Given the description of an element on the screen output the (x, y) to click on. 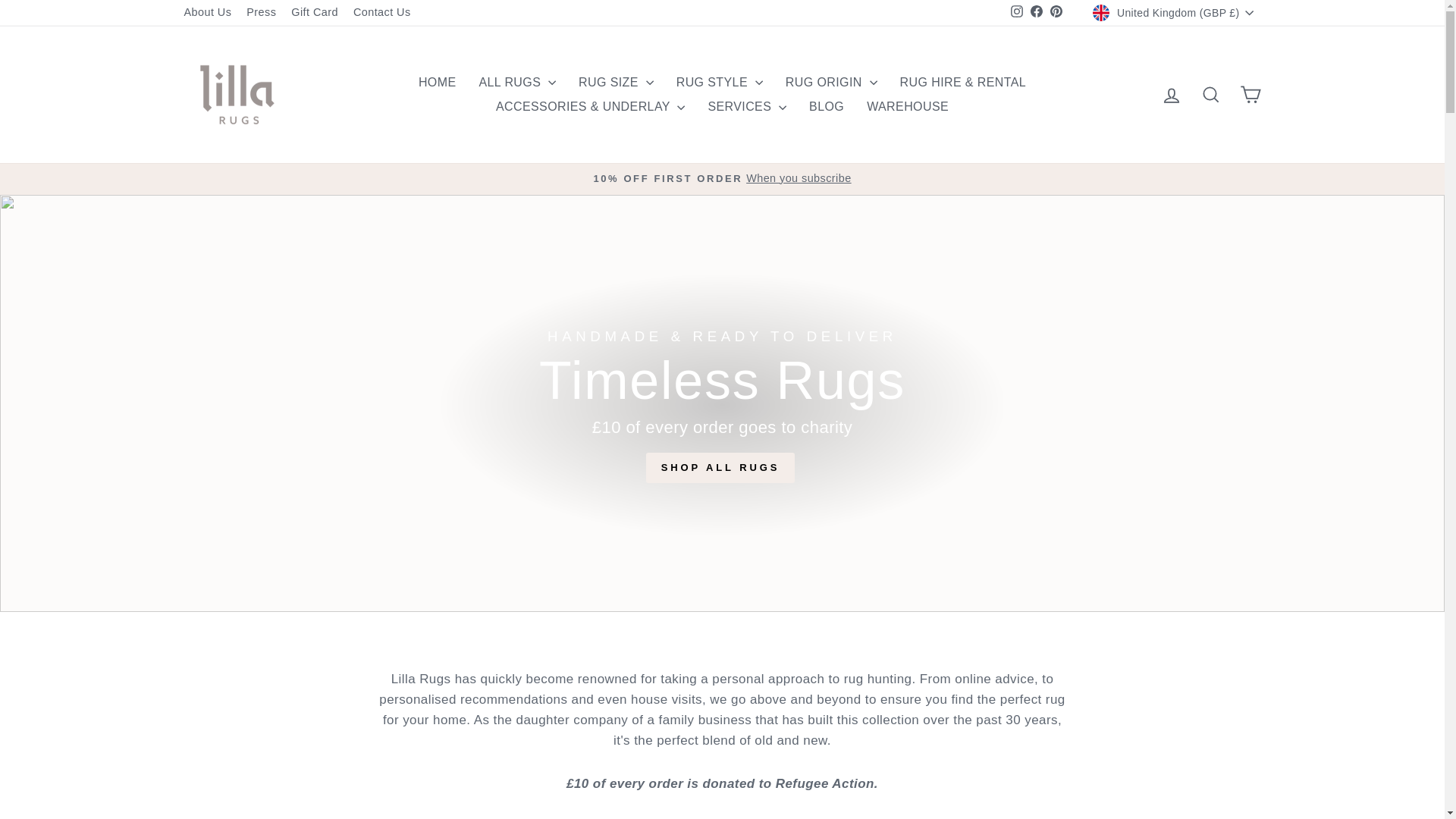
ACCOUNT (1170, 95)
ICON-SEARCH (1210, 94)
instagram (1016, 10)
